Given the description of an element on the screen output the (x, y) to click on. 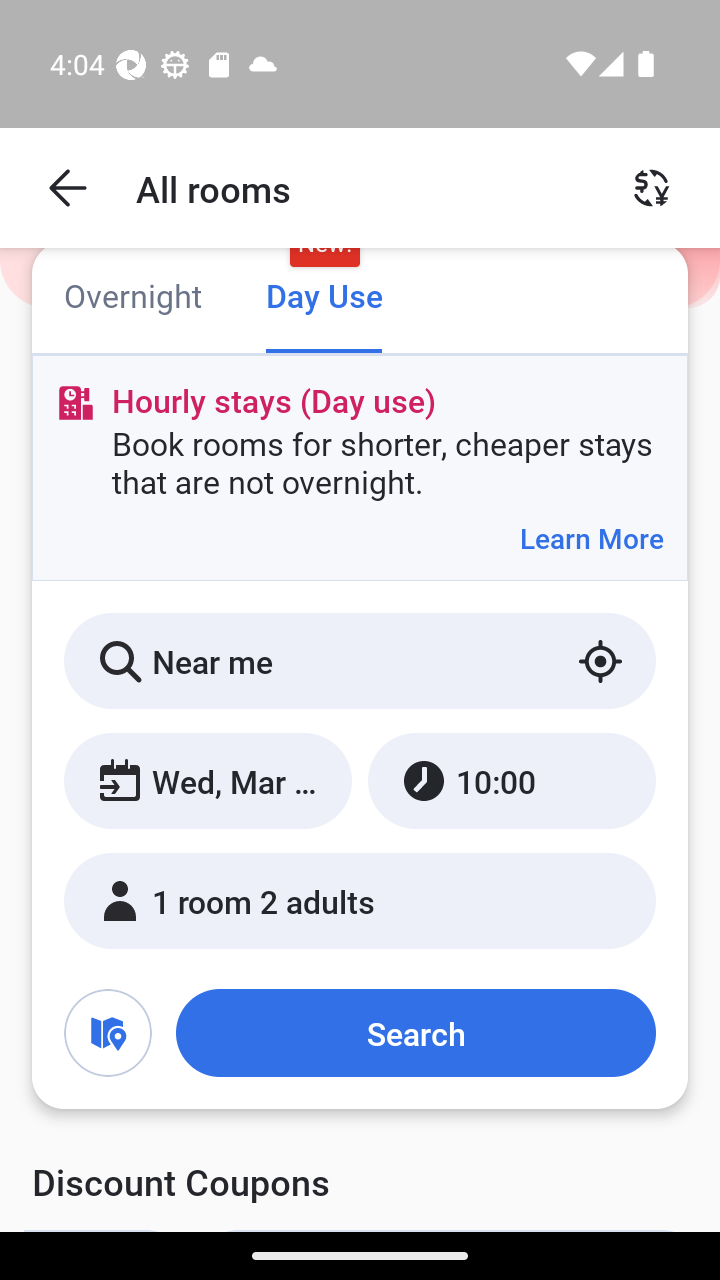
Overnight (132, 298)
Learn More (591, 538)
Near me (359, 661)
Wed, Mar 13 (208, 781)
10:00 (511, 781)
1 room 2 adults (359, 900)
Search (415, 1033)
